Given the description of an element on the screen output the (x, y) to click on. 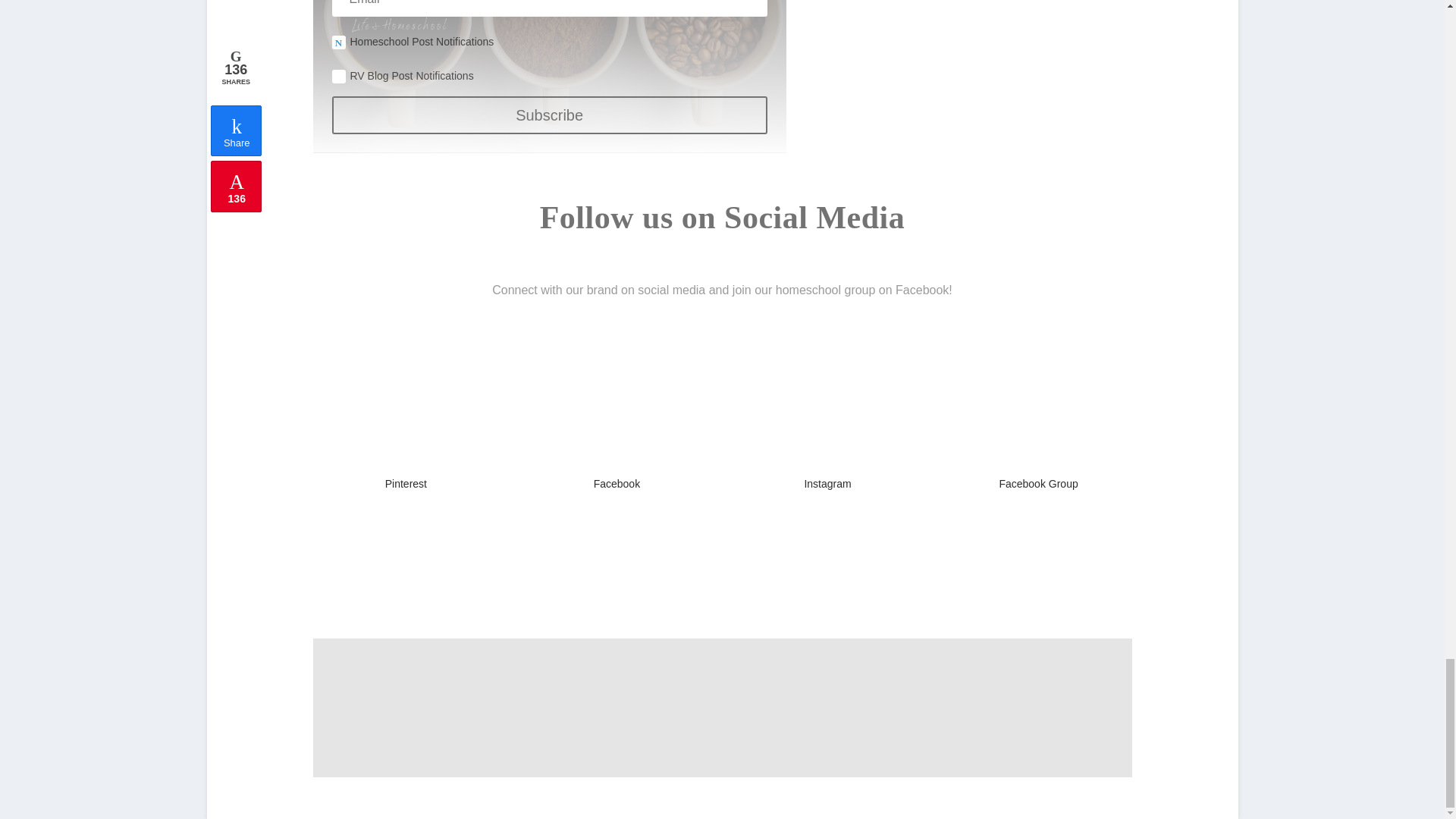
Subscribe (549, 115)
